Given the description of an element on the screen output the (x, y) to click on. 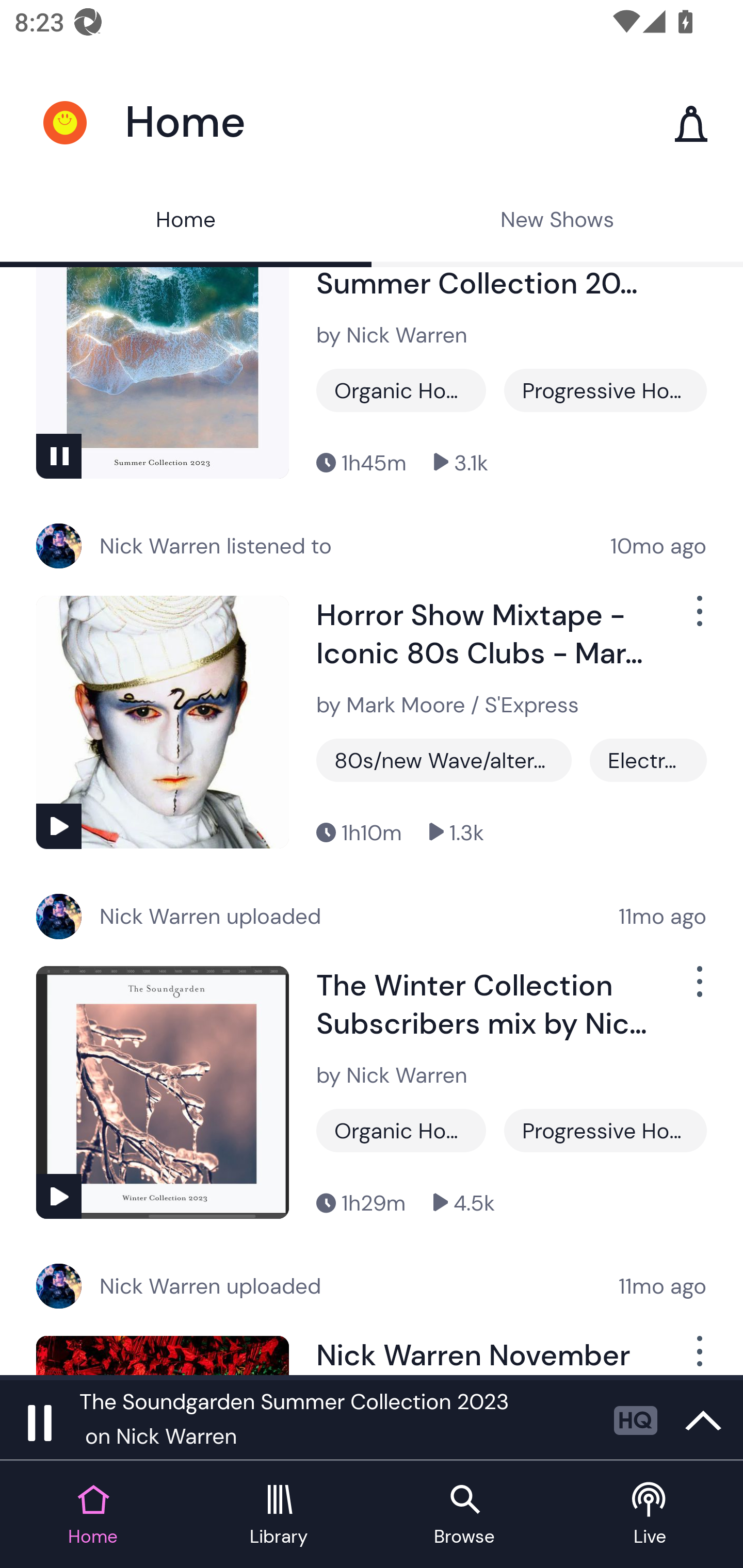
Home (185, 221)
New Shows (557, 221)
Organic House (400, 390)
Progressive House (604, 390)
Show Options Menu Button (697, 618)
80s/new Wave/alternative (443, 760)
Electronic (647, 760)
Show Options Menu Button (697, 988)
Organic House (400, 1130)
Progressive House (604, 1130)
Show Options Menu Button (697, 1355)
Home tab Home (92, 1515)
Library tab Library (278, 1515)
Browse tab Browse (464, 1515)
Live tab Live (650, 1515)
